Given the description of an element on the screen output the (x, y) to click on. 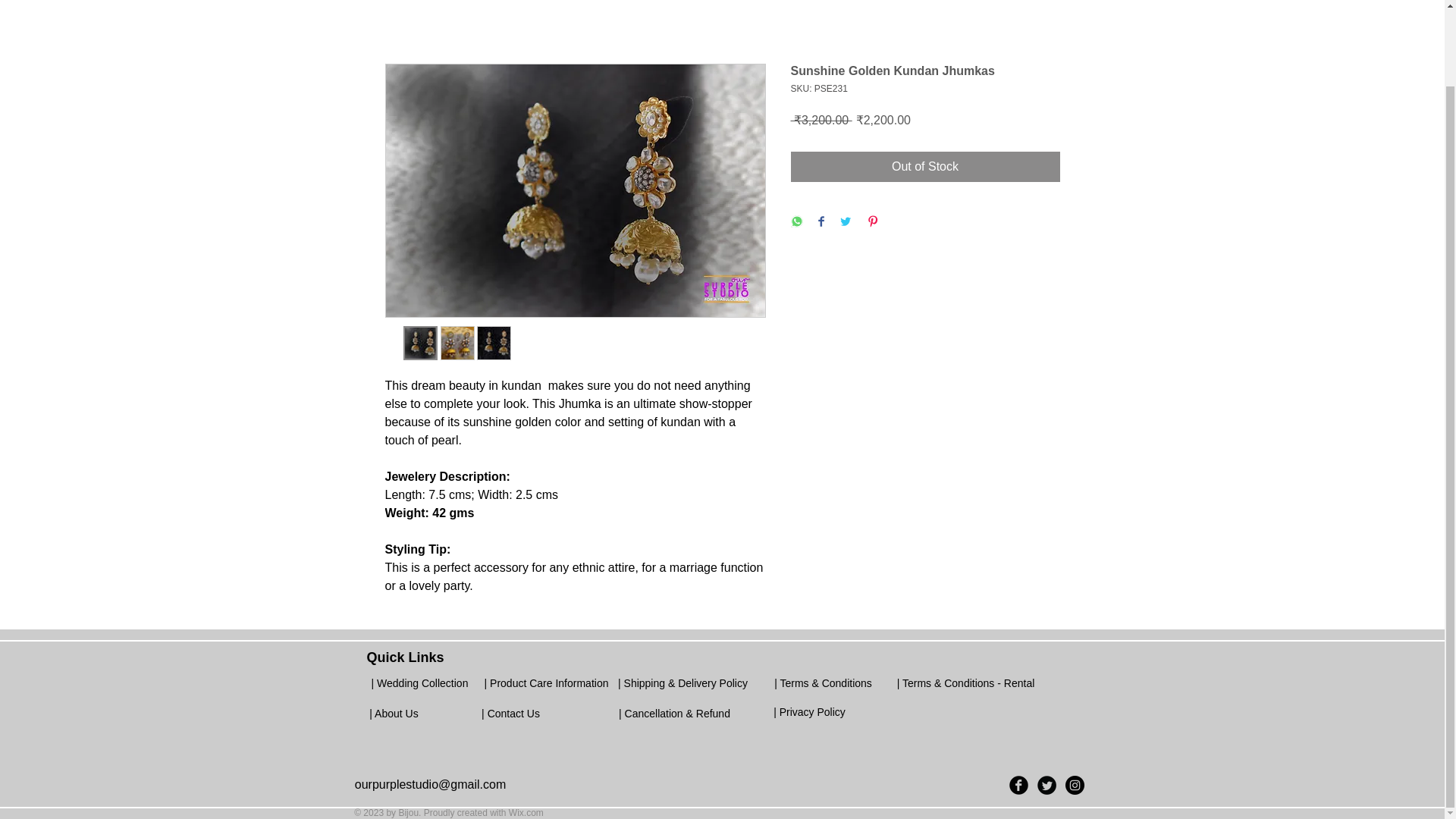
Out of Stock (924, 166)
